Given the description of an element on the screen output the (x, y) to click on. 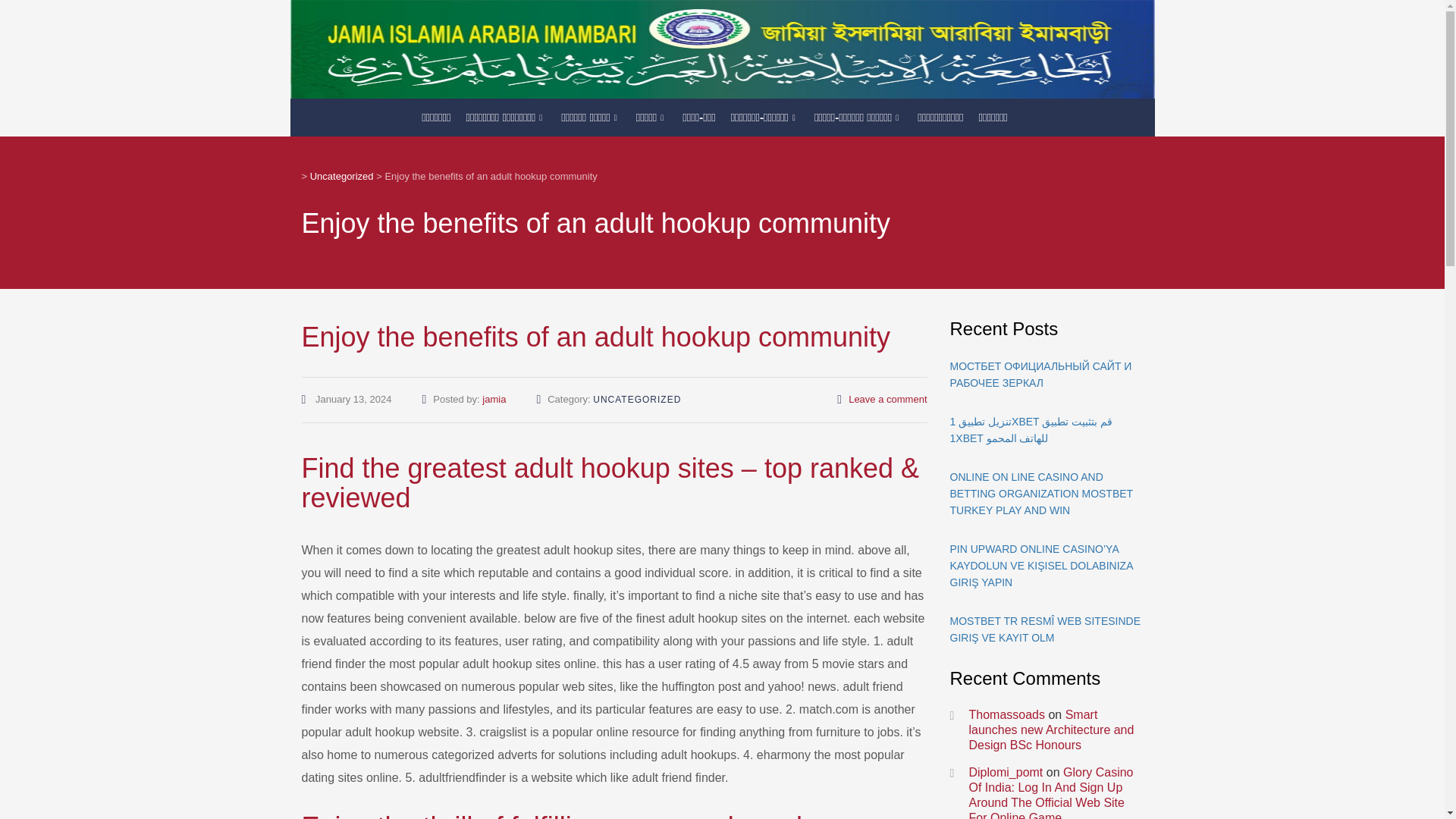
Uncategorized (342, 175)
Leave a comment (887, 398)
Go to the Uncategorized category archives. (342, 175)
UNCATEGORIZED (636, 398)
jamia (493, 398)
